Given the description of an element on the screen output the (x, y) to click on. 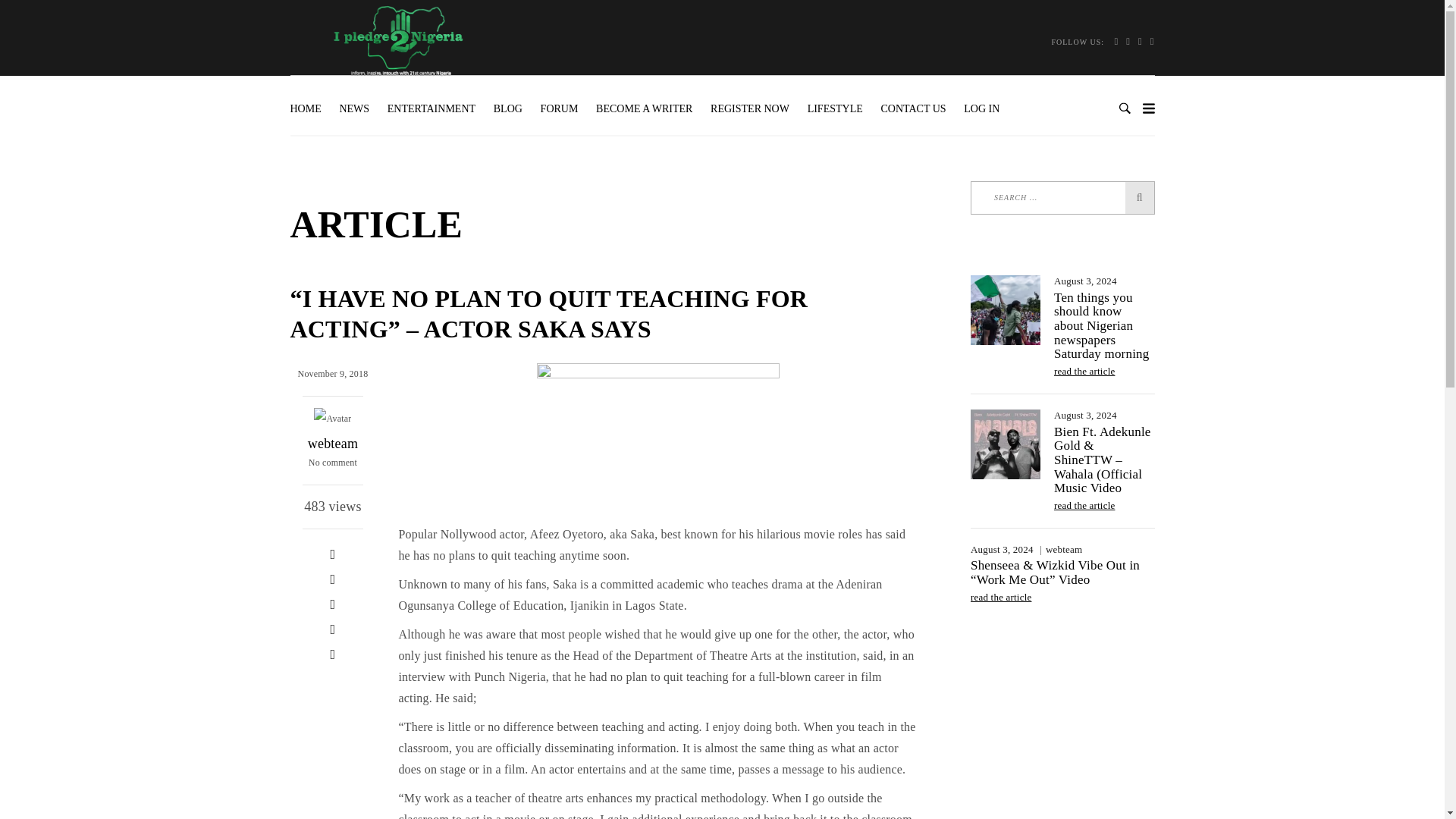
Facebook (332, 554)
LIFESTYLE (834, 108)
FORUM (559, 108)
NEWS (354, 108)
BLOG (507, 108)
webteam (332, 443)
CONTACT US (912, 108)
LOG IN (981, 108)
REGISTER NOW (749, 108)
HOME (309, 108)
